Given the description of an element on the screen output the (x, y) to click on. 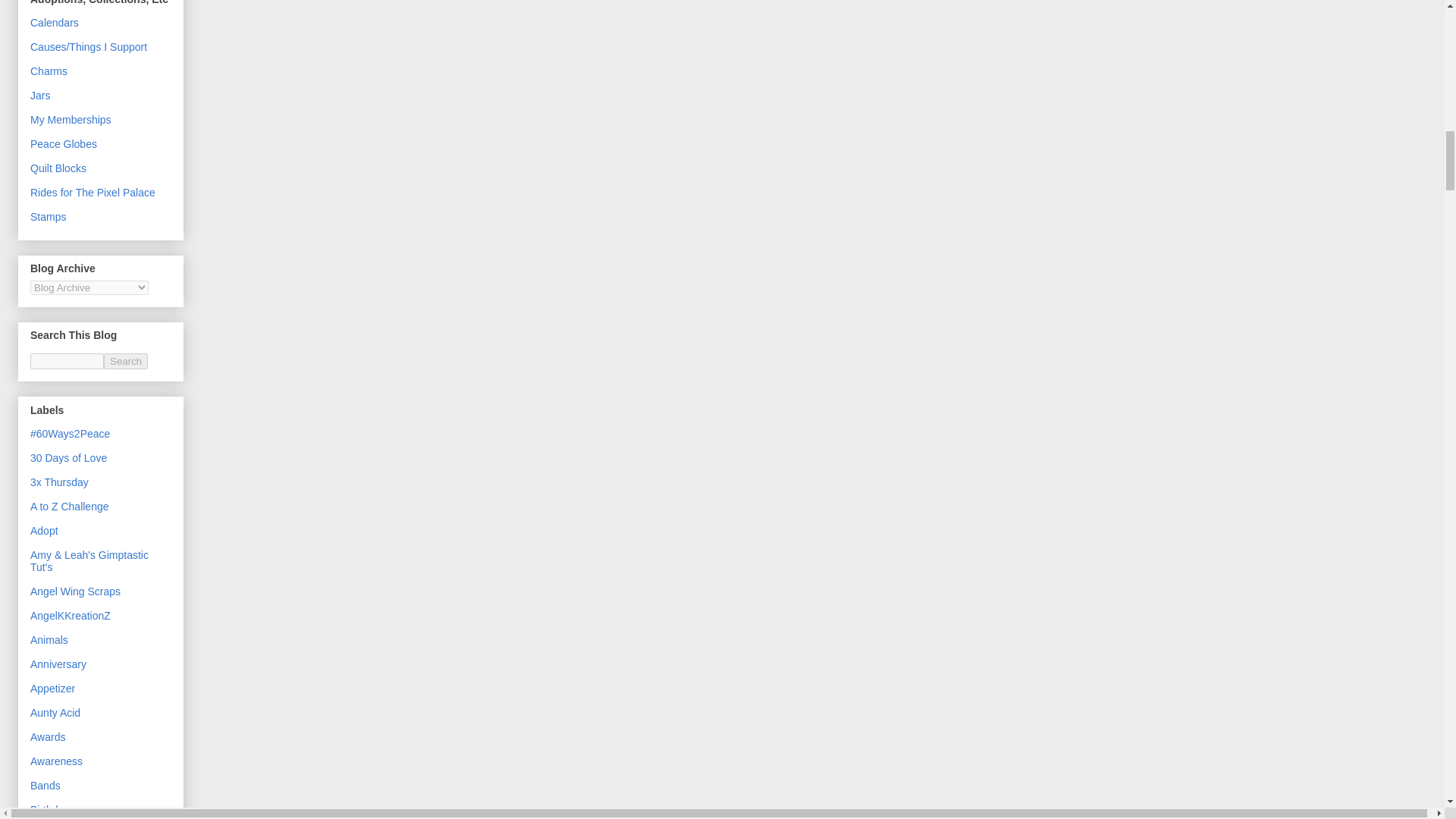
Charms (48, 70)
Search (125, 360)
Search (125, 360)
Stamps (47, 216)
Rides for The Pixel Palace (92, 192)
Peace Globes (63, 143)
search (66, 360)
Calendars (54, 22)
Search (125, 360)
search (125, 360)
Jars (39, 95)
My Memberships (71, 119)
Quilt Blocks (57, 168)
